Given the description of an element on the screen output the (x, y) to click on. 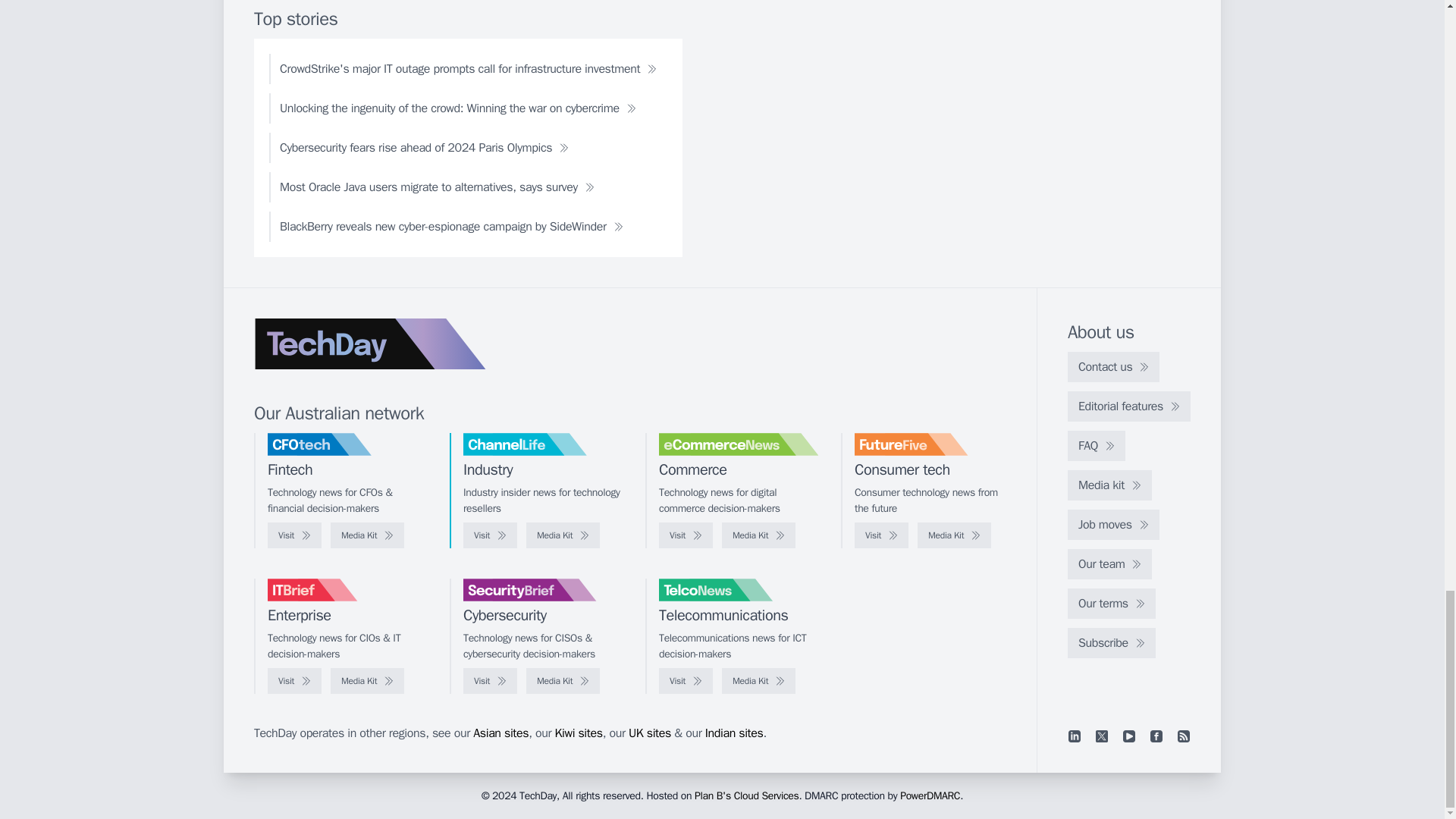
Visit (686, 534)
Media Kit (367, 534)
Media Kit (954, 534)
Cybersecurity fears rise ahead of 2024 Paris Olympics (424, 147)
Visit (294, 534)
Visit (881, 534)
Most Oracle Java users migrate to alternatives, says survey (437, 186)
Media Kit (562, 534)
Visit (489, 534)
Media Kit (758, 534)
